Given the description of an element on the screen output the (x, y) to click on. 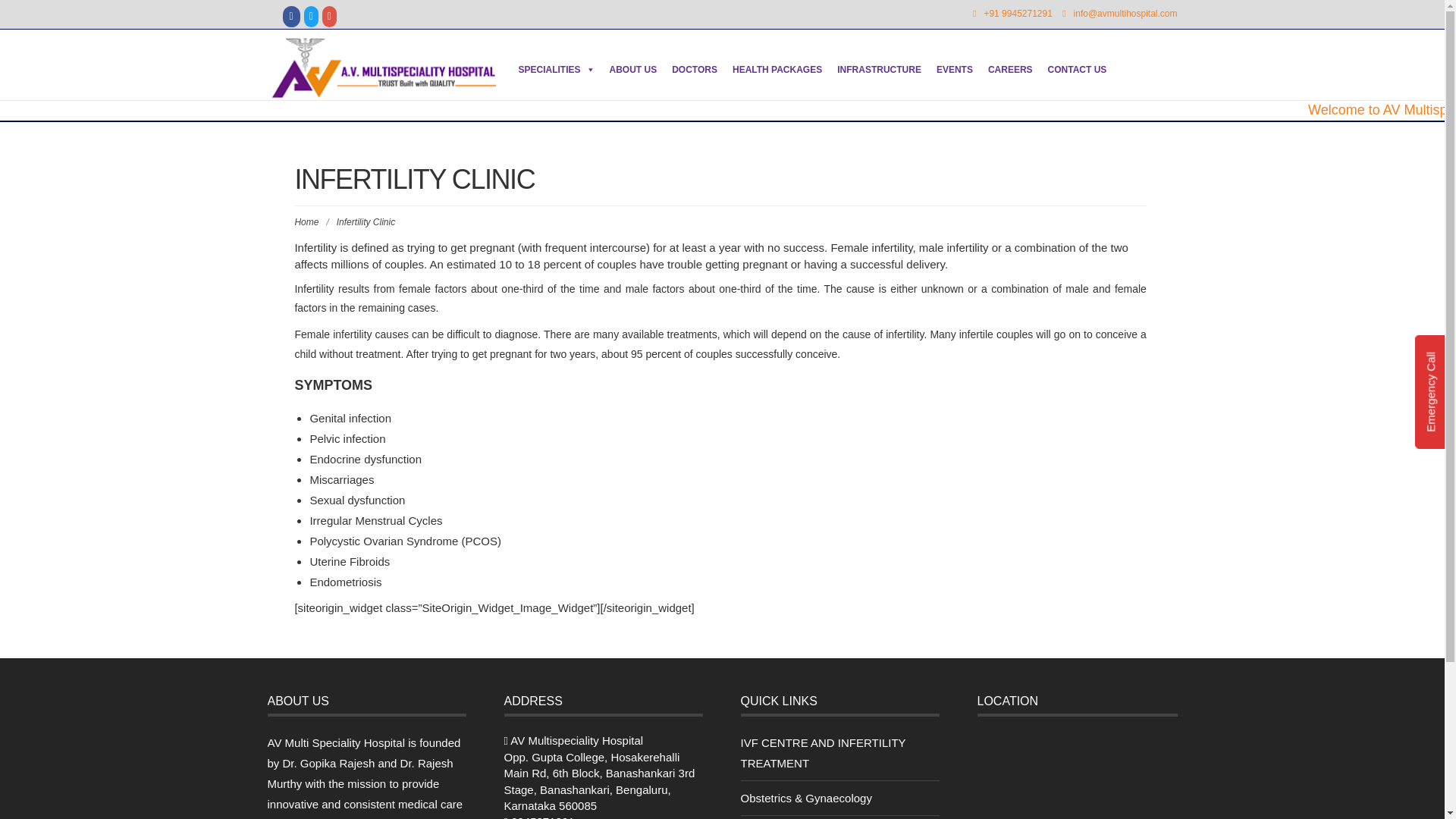
EVENTS (953, 69)
ABOUT US (633, 69)
CAREERS (1010, 69)
INFRASTRUCTURE (878, 69)
SPECIALITIES (556, 69)
Home (306, 222)
HEALTH PACKAGES (777, 69)
DOCTORS (694, 69)
CONTACT US (1078, 69)
